Given the description of an element on the screen output the (x, y) to click on. 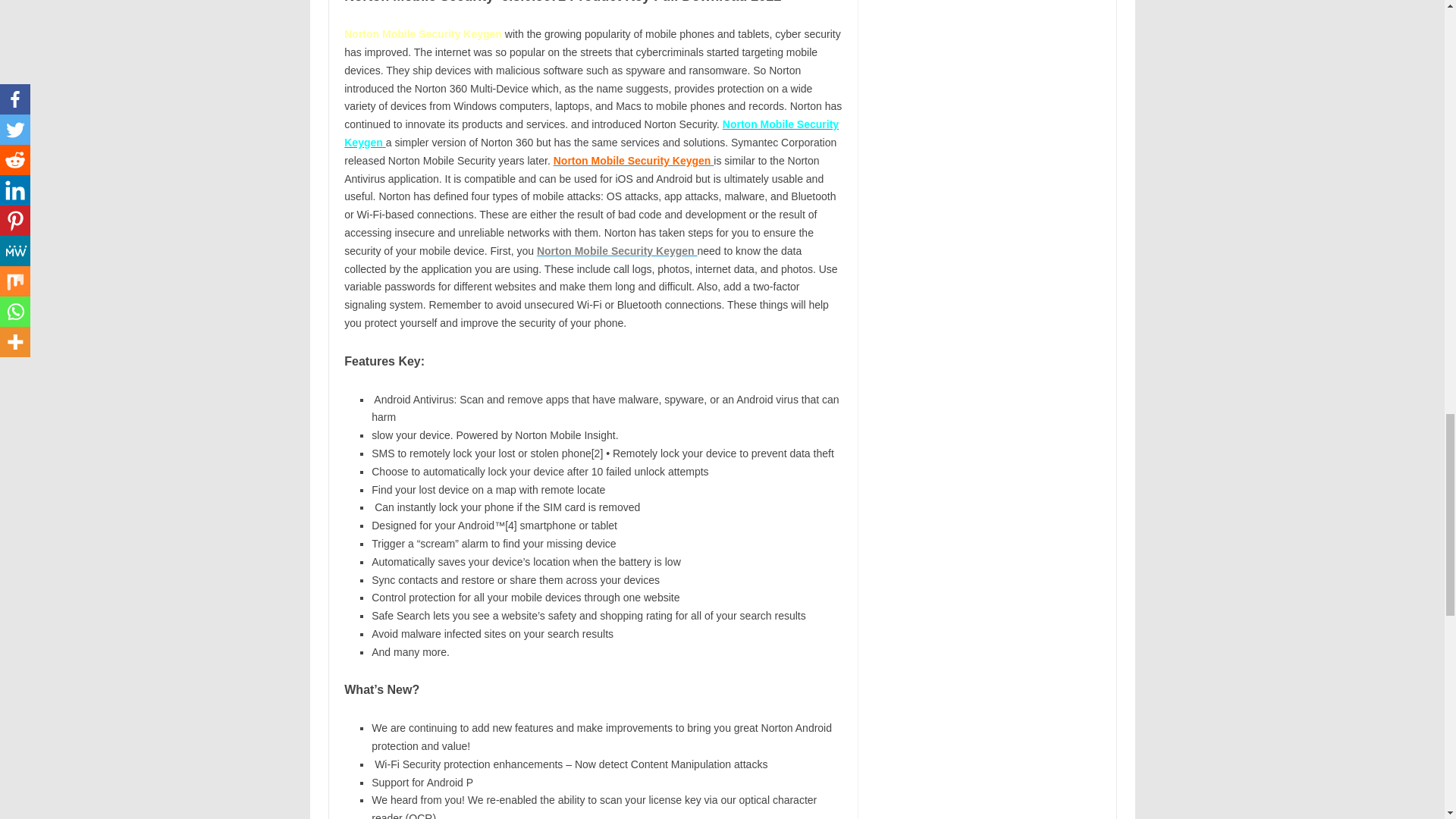
Norton Mobile Security Keygen (590, 132)
Norton Mobile Security Keygen (617, 250)
Norton Mobile Security Keygen (633, 160)
